Given the description of an element on the screen output the (x, y) to click on. 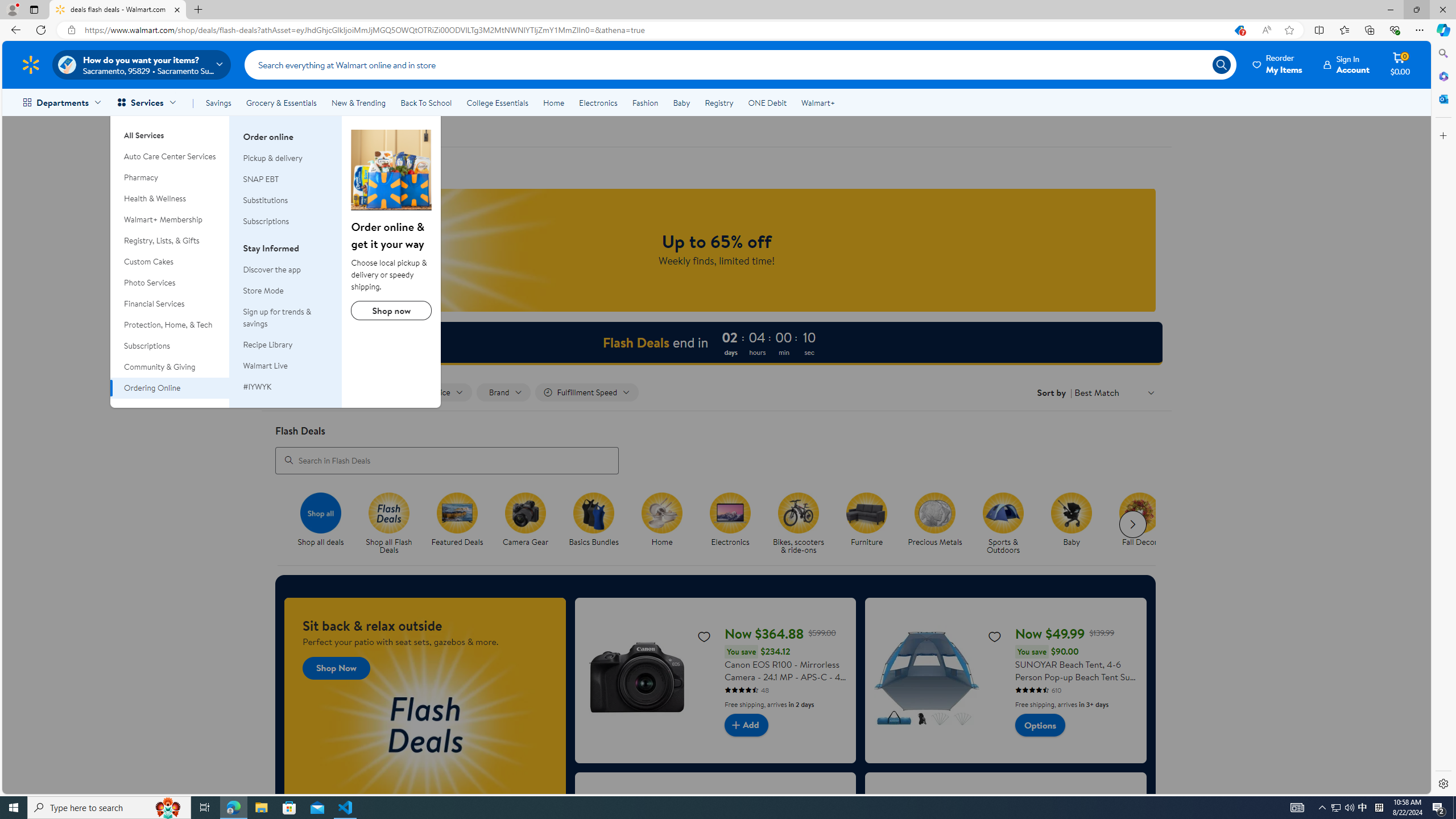
Flash deals (293, 131)
Photo Services (170, 282)
Walmart+ Membership (170, 219)
Electronics Electronics (730, 519)
Sign In Account (1347, 64)
Filter by Price not applied, activate to change (440, 392)
Precious Metals (934, 512)
Walmart Live (265, 365)
Discover the app (272, 269)
Basics Bundles Basics Bundles (593, 519)
Featured Deals Featured Deals (457, 519)
Sign up for trends & savings (277, 317)
